Given the description of an element on the screen output the (x, y) to click on. 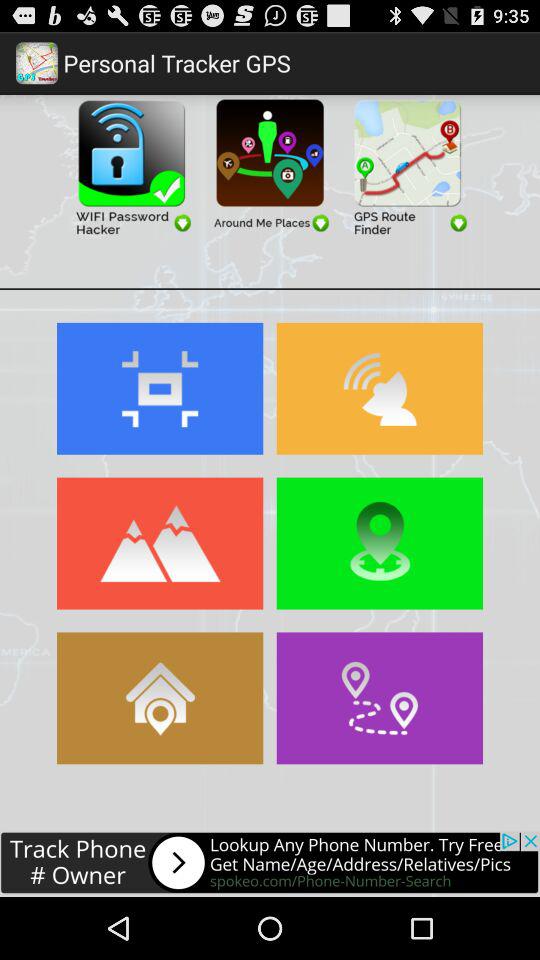
select the location (379, 543)
